Given the description of an element on the screen output the (x, y) to click on. 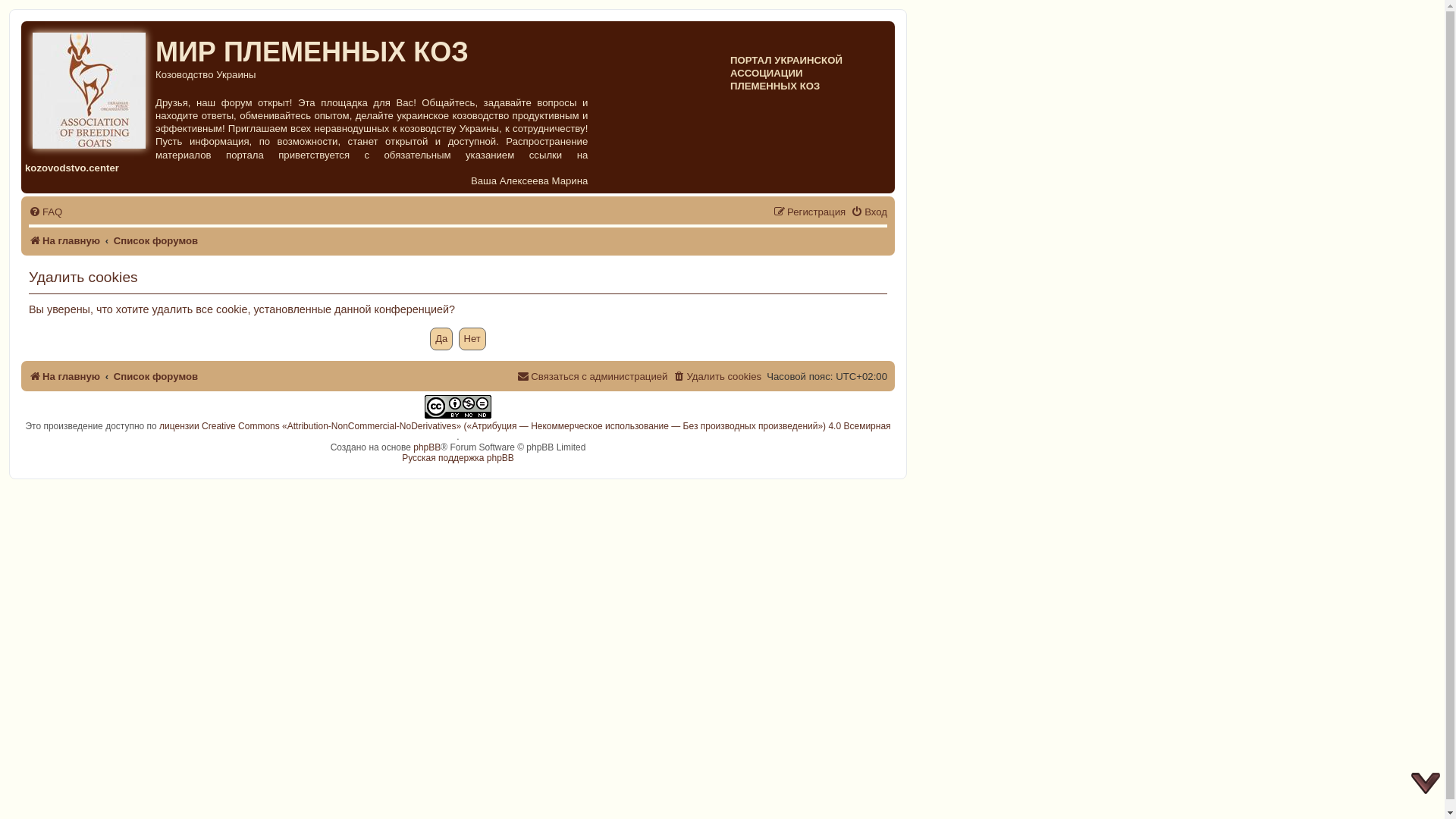
FAQ Element type: text (45, 211)
kozovodstvo.center Element type: text (72, 167)
phpBB Element type: text (426, 447)
